Given the description of an element on the screen output the (x, y) to click on. 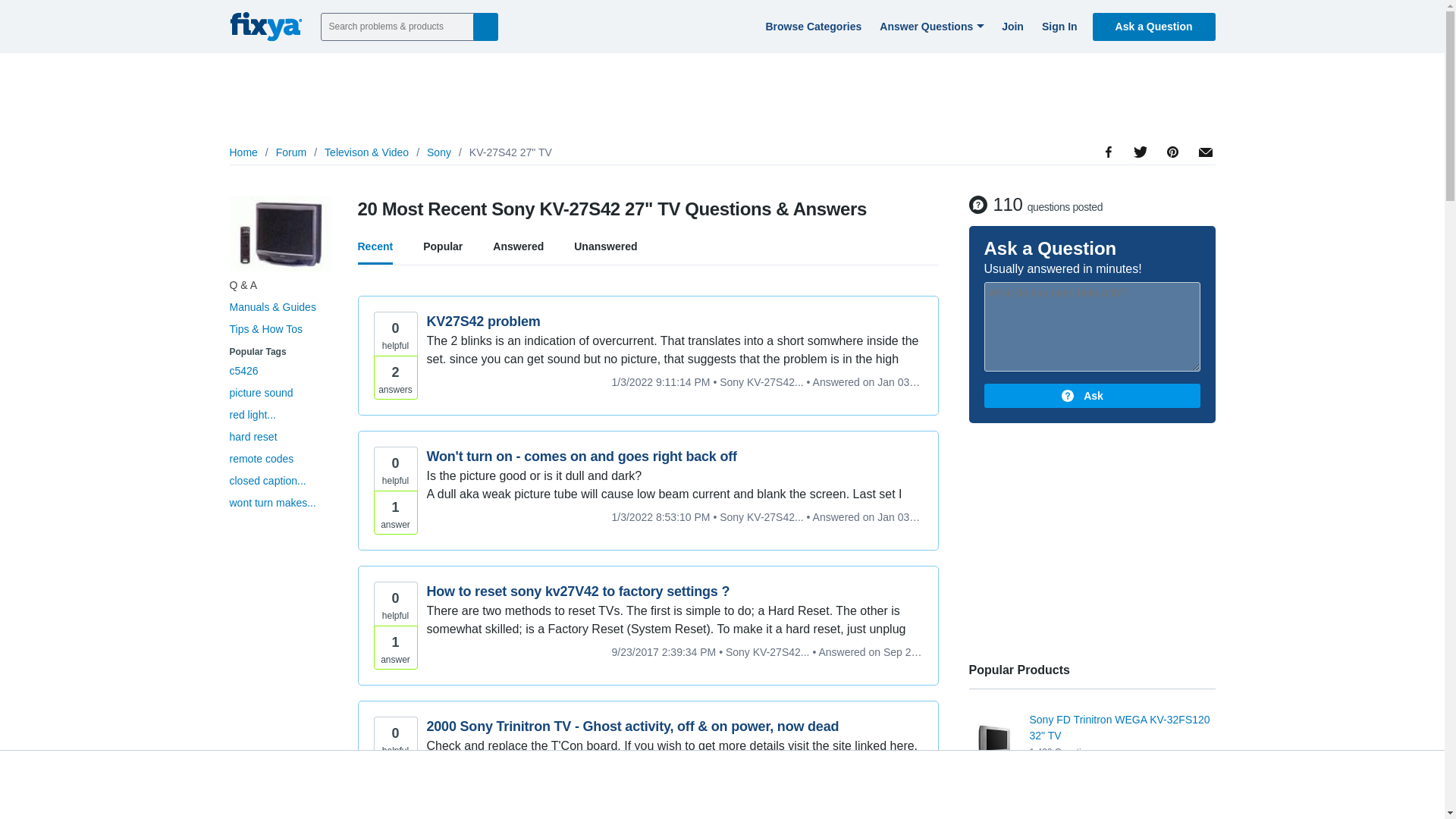
Share on Facebook (1108, 194)
Search Fixya (485, 26)
Share on Twitter (1139, 188)
Share on Pinterest (1170, 194)
picture sound (260, 392)
Share by Email (1202, 176)
Answer Questions (929, 26)
remote codes (261, 458)
KV27S42 problem (673, 322)
Join (1010, 26)
Won't turn on - comes on and goes right back off (673, 456)
Browse Categories (810, 26)
closed caption subtitles (266, 480)
Share on Facebook (1108, 194)
Forum (290, 152)
